Given the description of an element on the screen output the (x, y) to click on. 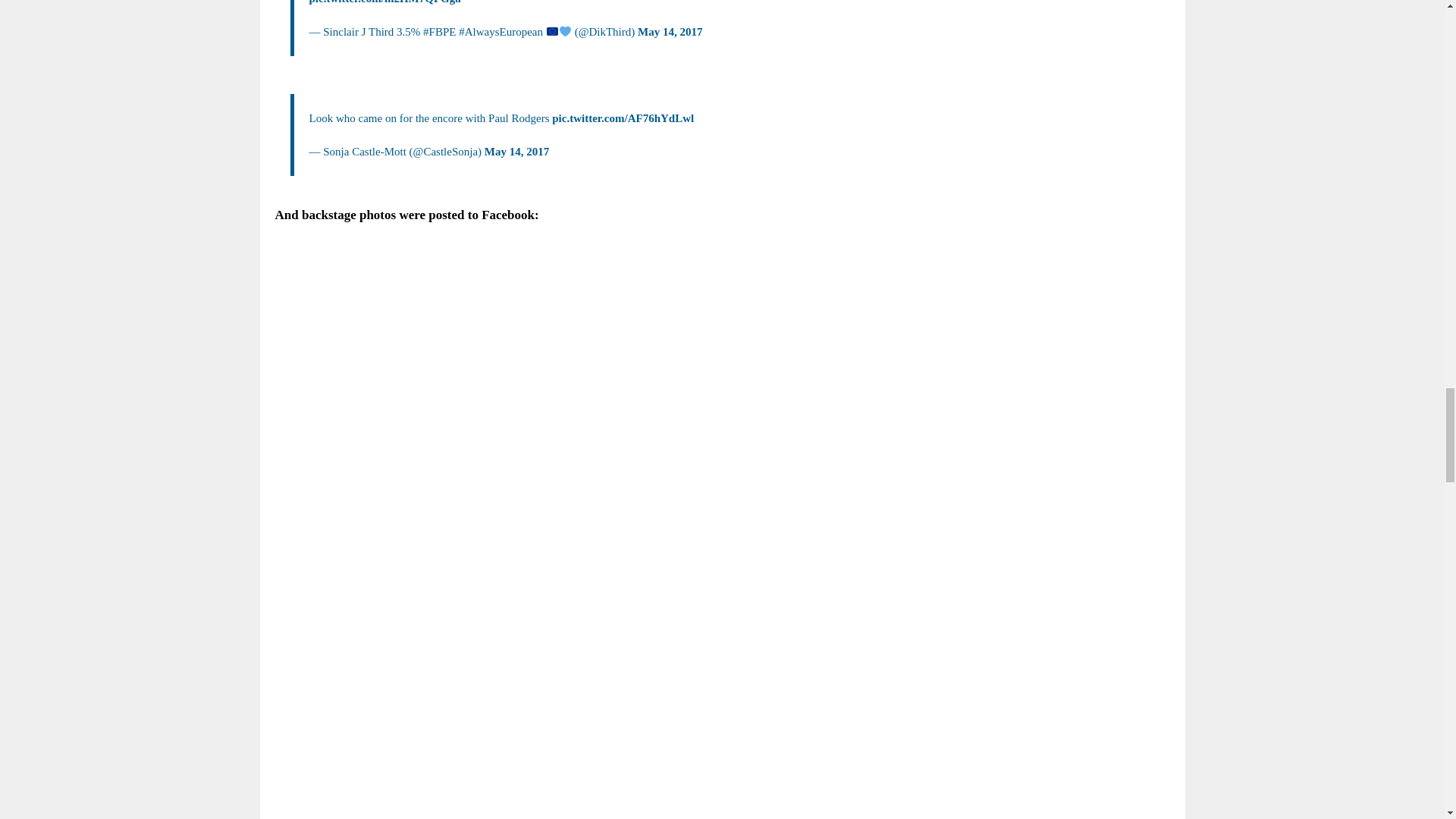
May 14, 2017 (669, 31)
May 14, 2017 (516, 151)
